Given the description of an element on the screen output the (x, y) to click on. 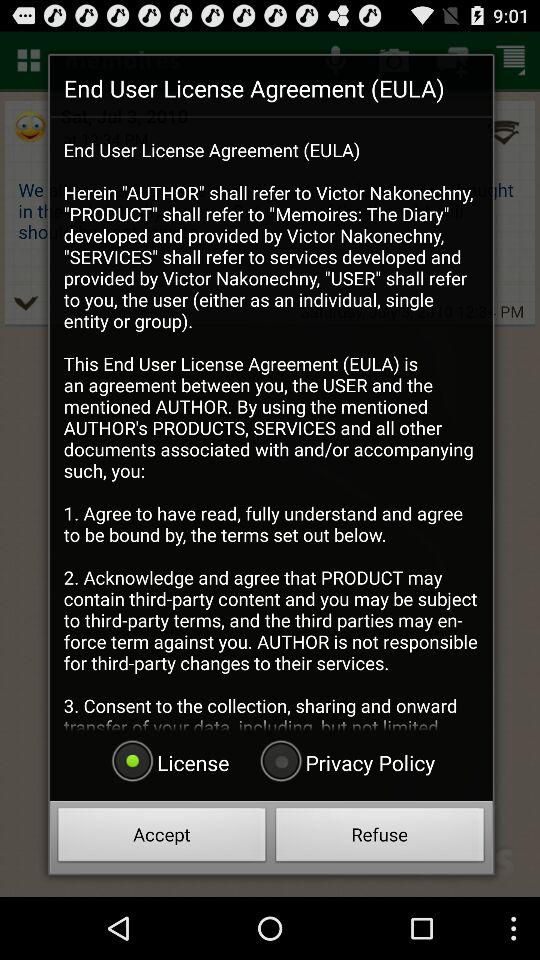
launch button above accept button (345, 762)
